Given the description of an element on the screen output the (x, y) to click on. 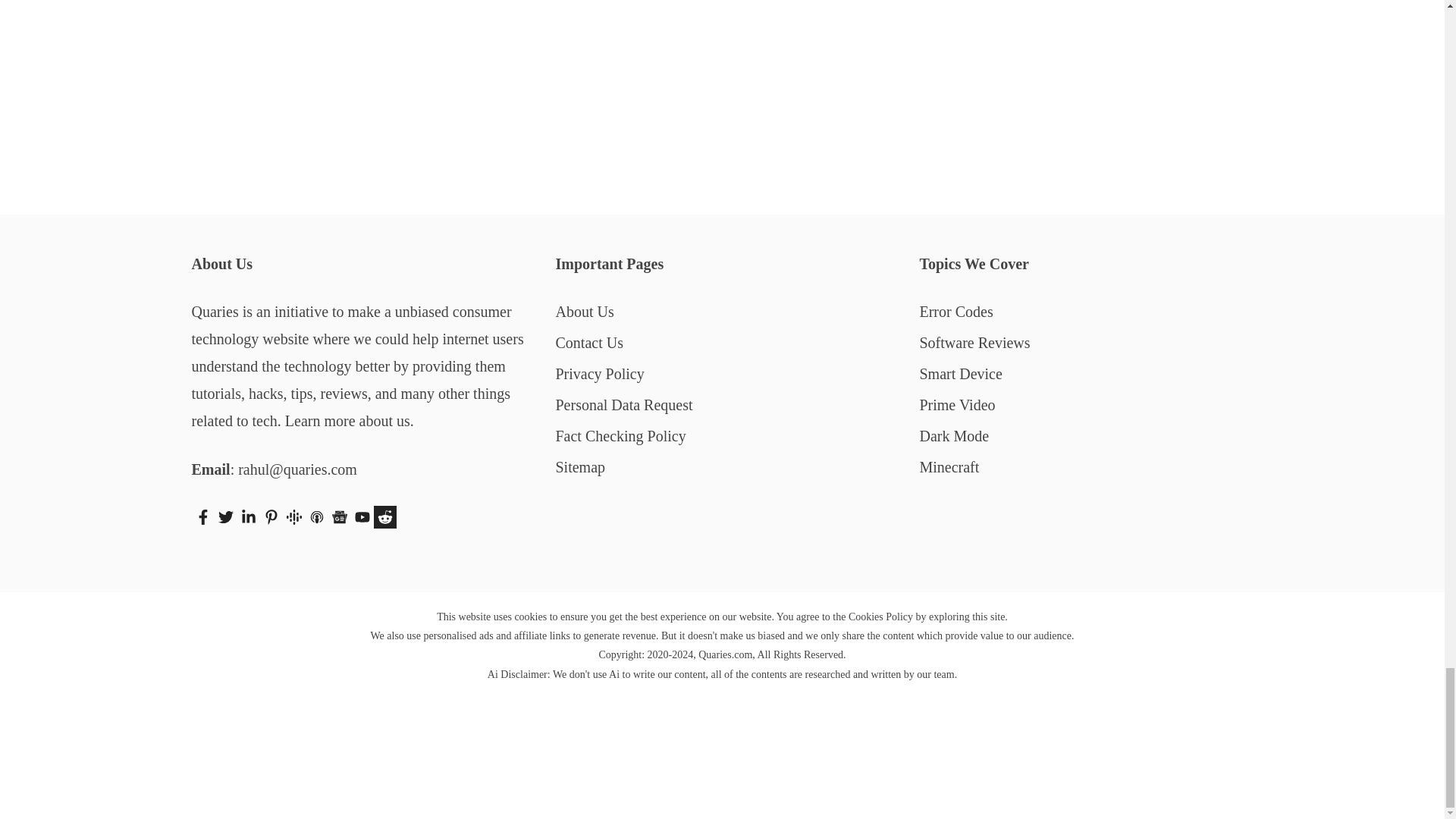
DMCA.com Protection Status (721, 794)
Learn more about us (347, 420)
